Given the description of an element on the screen output the (x, y) to click on. 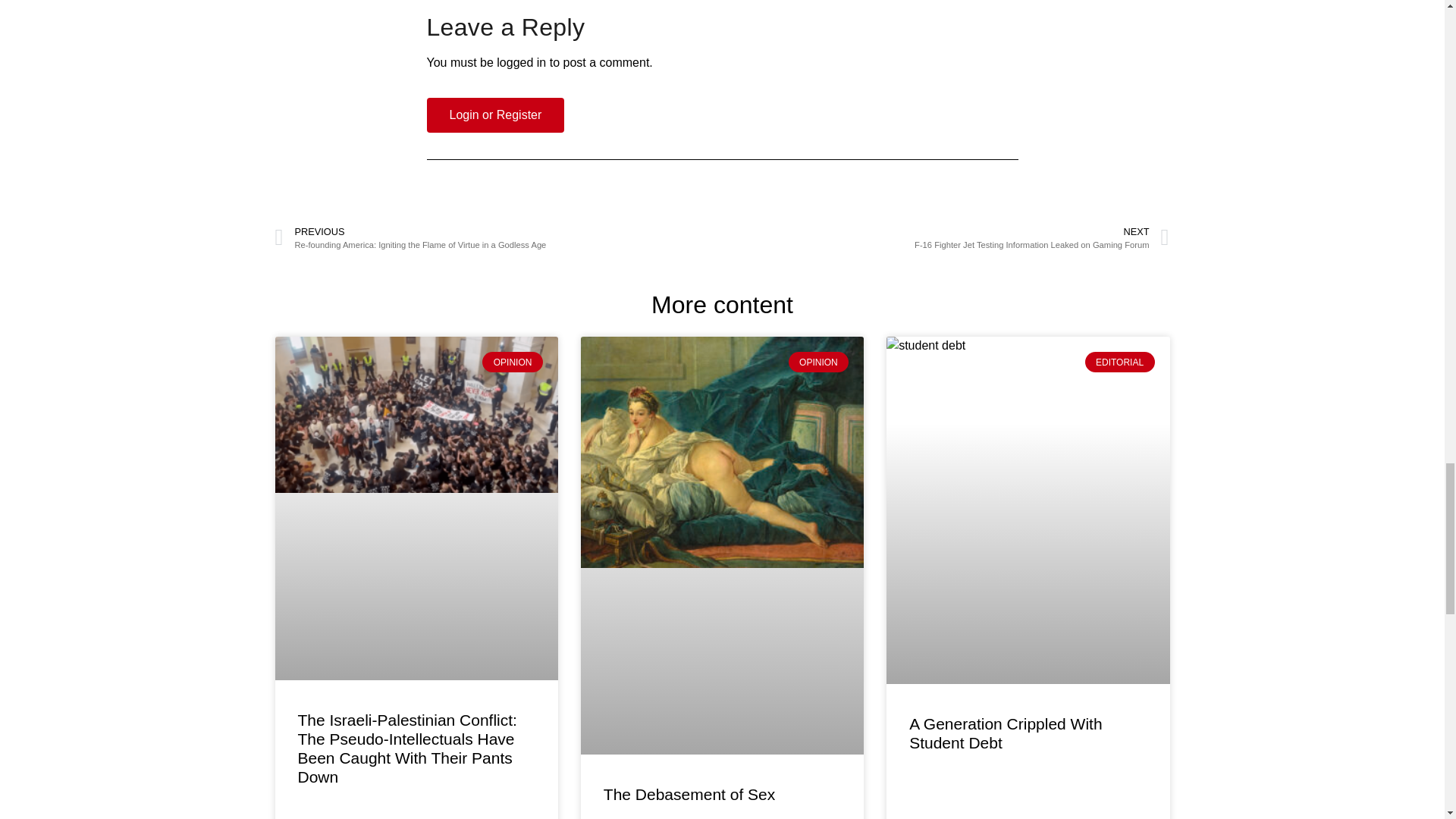
A Generation Crippled With Student Debt (1005, 732)
logged in (521, 62)
Login or Register (495, 114)
The Debasement of Sex (689, 794)
